Given the description of an element on the screen output the (x, y) to click on. 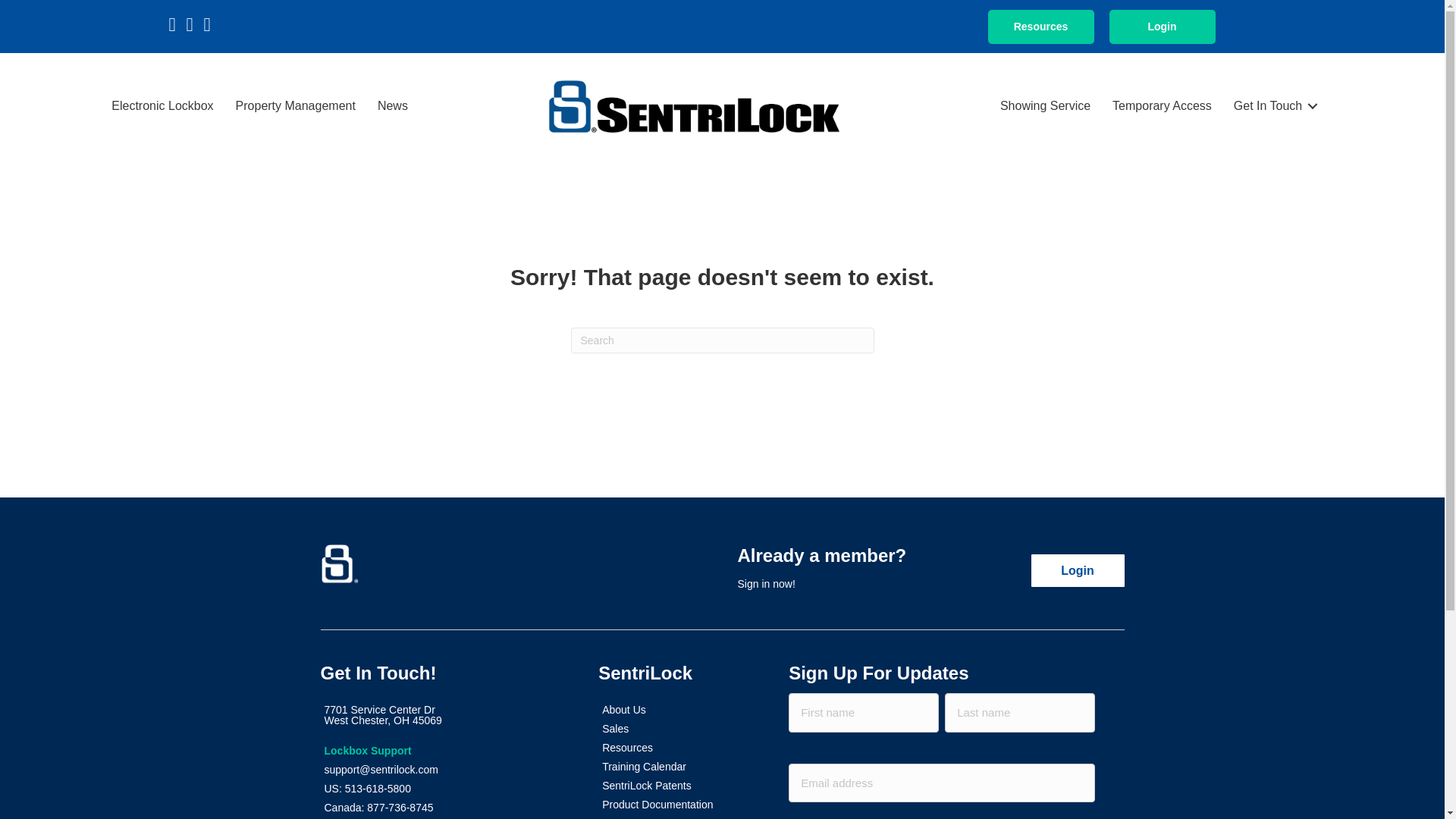
Showing Service (1045, 105)
Login (1161, 26)
Lockbox Support (443, 751)
Property Management (295, 105)
Resources (1040, 26)
Login (1077, 570)
News (443, 715)
US: 513-618-5800 (392, 105)
Electronic Lockbox (443, 788)
